Given the description of an element on the screen output the (x, y) to click on. 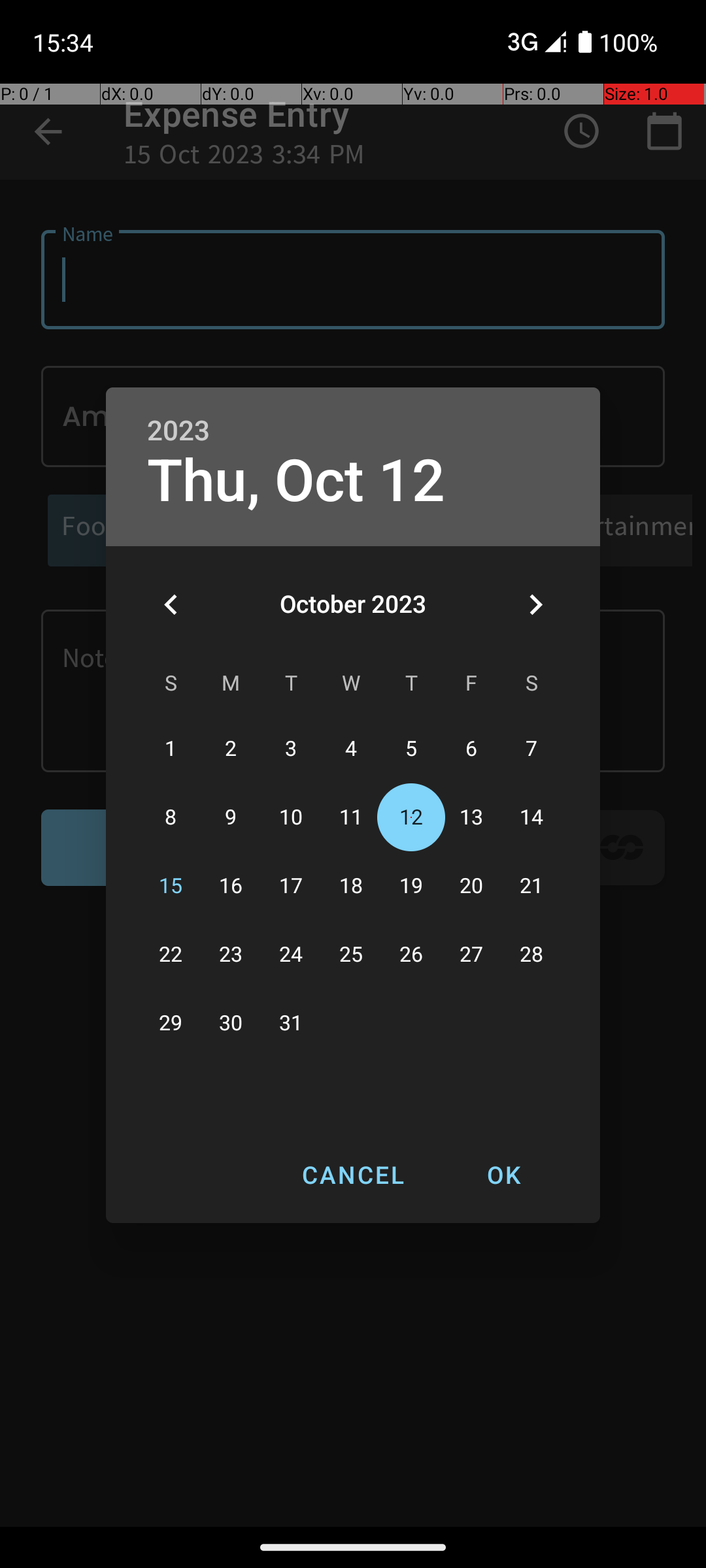
Thu, Oct 12 Element type: android.widget.TextView (296, 480)
